Given the description of an element on the screen output the (x, y) to click on. 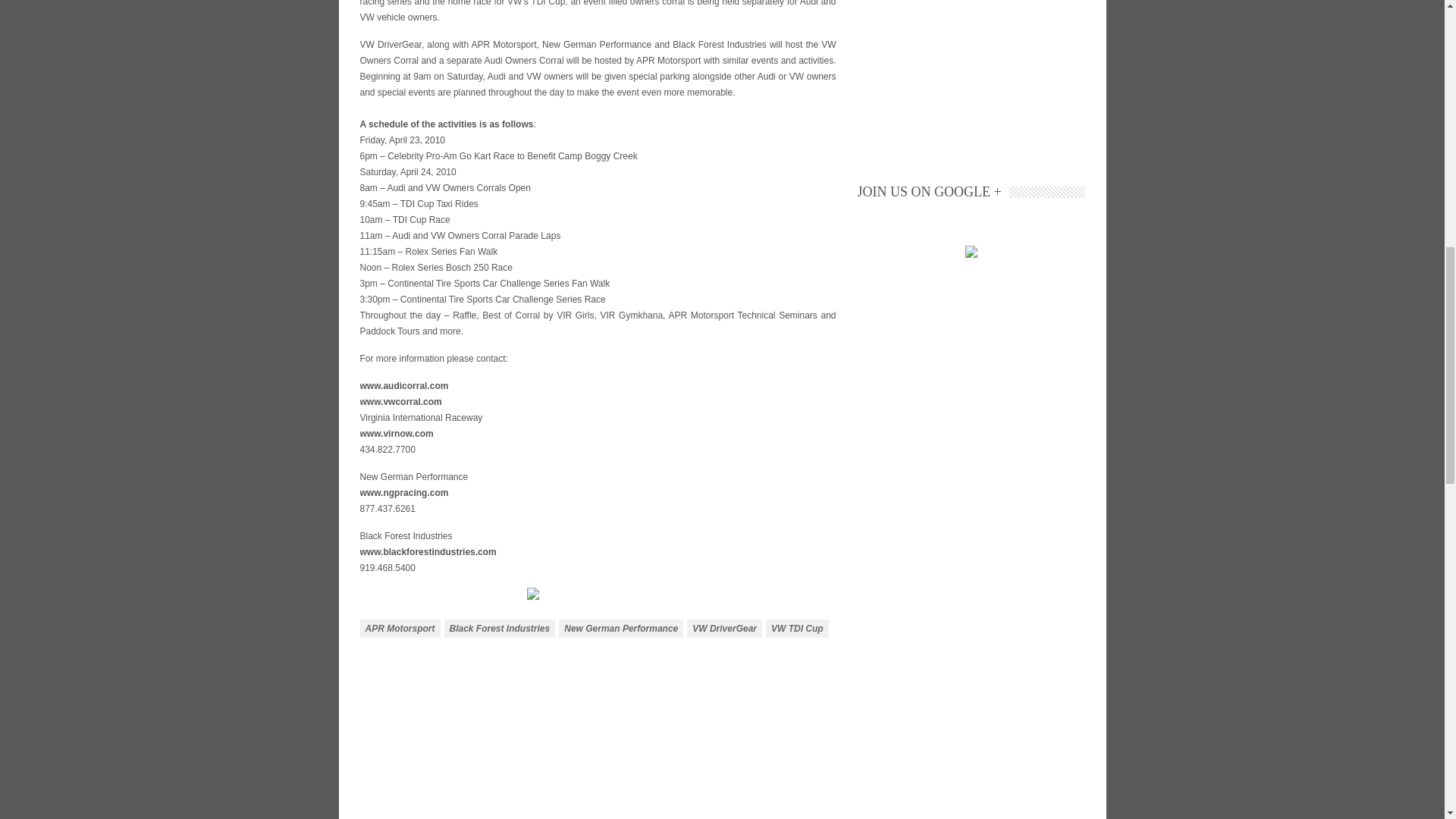
APR Motorsport (399, 628)
www.vwcorral.com (400, 401)
www.ngpracing.com (403, 492)
www.virnow.com (395, 433)
www.audicorral.com (403, 385)
www.blackforestindustries.com (427, 552)
